Given the description of an element on the screen output the (x, y) to click on. 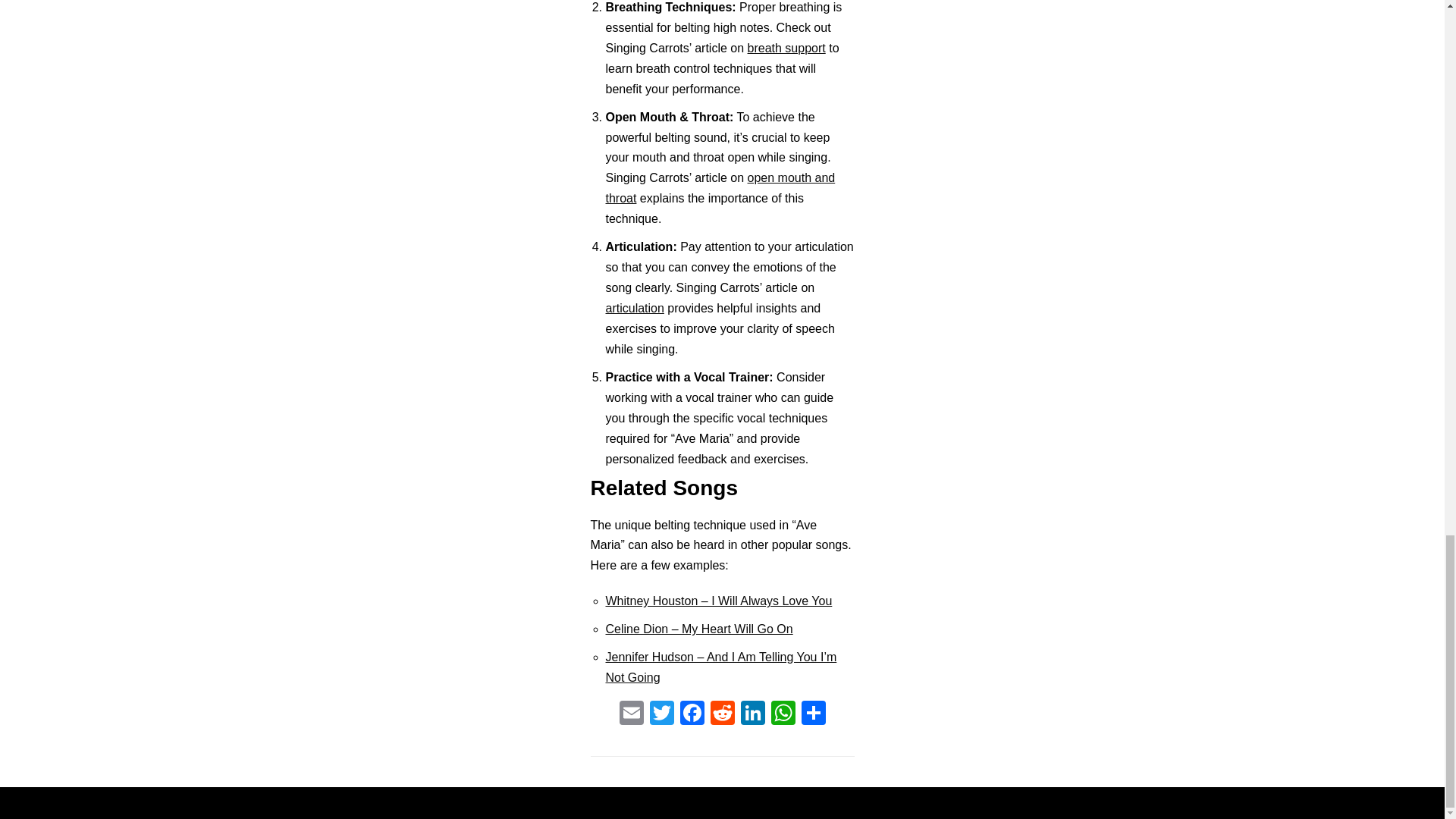
Neve (652, 802)
Twitter (661, 714)
Twitter (661, 714)
WordPress (775, 802)
articulation (634, 308)
open mouth and throat (719, 187)
breath support (786, 47)
Email (630, 714)
WhatsApp (782, 714)
WhatsApp (782, 714)
Email (630, 714)
Reddit (721, 714)
Facebook (691, 714)
Share (812, 714)
Facebook (691, 714)
